Given the description of an element on the screen output the (x, y) to click on. 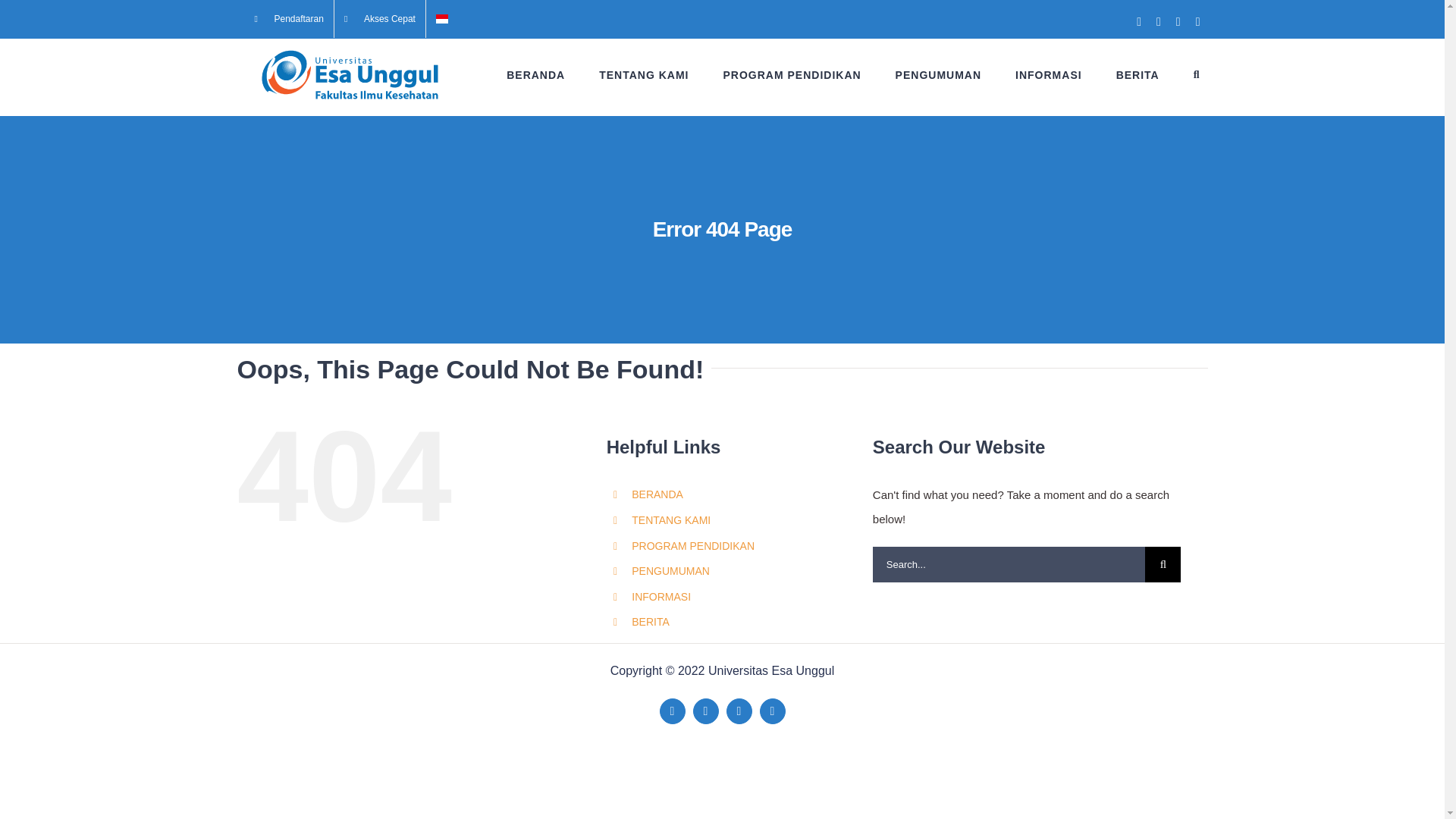
PROGRAM PENDIDIKAN (791, 74)
Twitter (706, 710)
Facebook (672, 710)
Pendaftaran (288, 18)
YouTube (739, 710)
Instagram (773, 710)
TENTANG KAMI (643, 74)
Akses Cepat (379, 18)
